Given the description of an element on the screen output the (x, y) to click on. 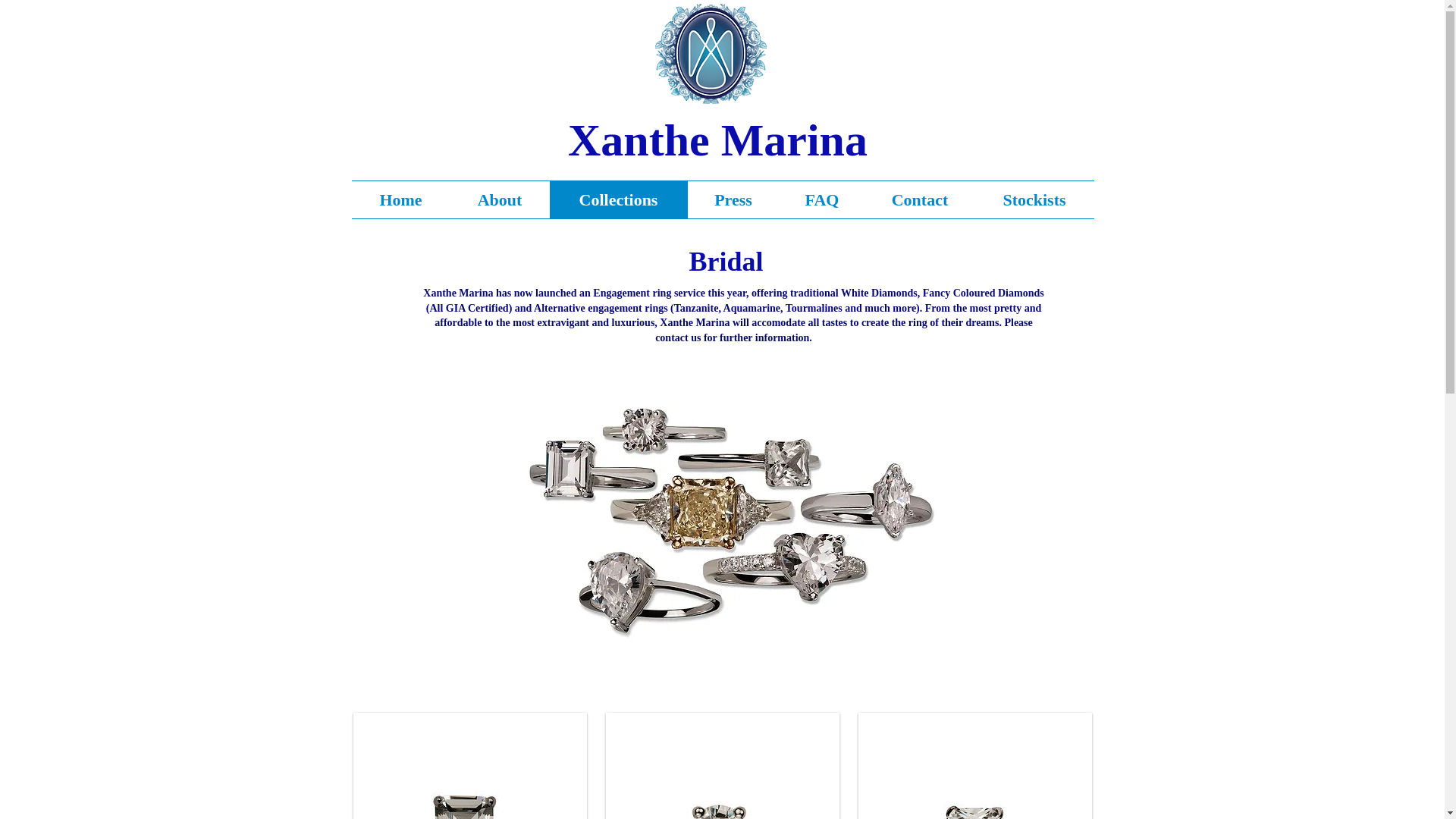
Collections (617, 199)
Home (400, 199)
Contact (919, 199)
FAQ (821, 199)
Xanthe Marina - Bespoke Jewellery London (711, 54)
About (499, 199)
Stockists (1034, 199)
Press (732, 199)
